Given the description of an element on the screen output the (x, y) to click on. 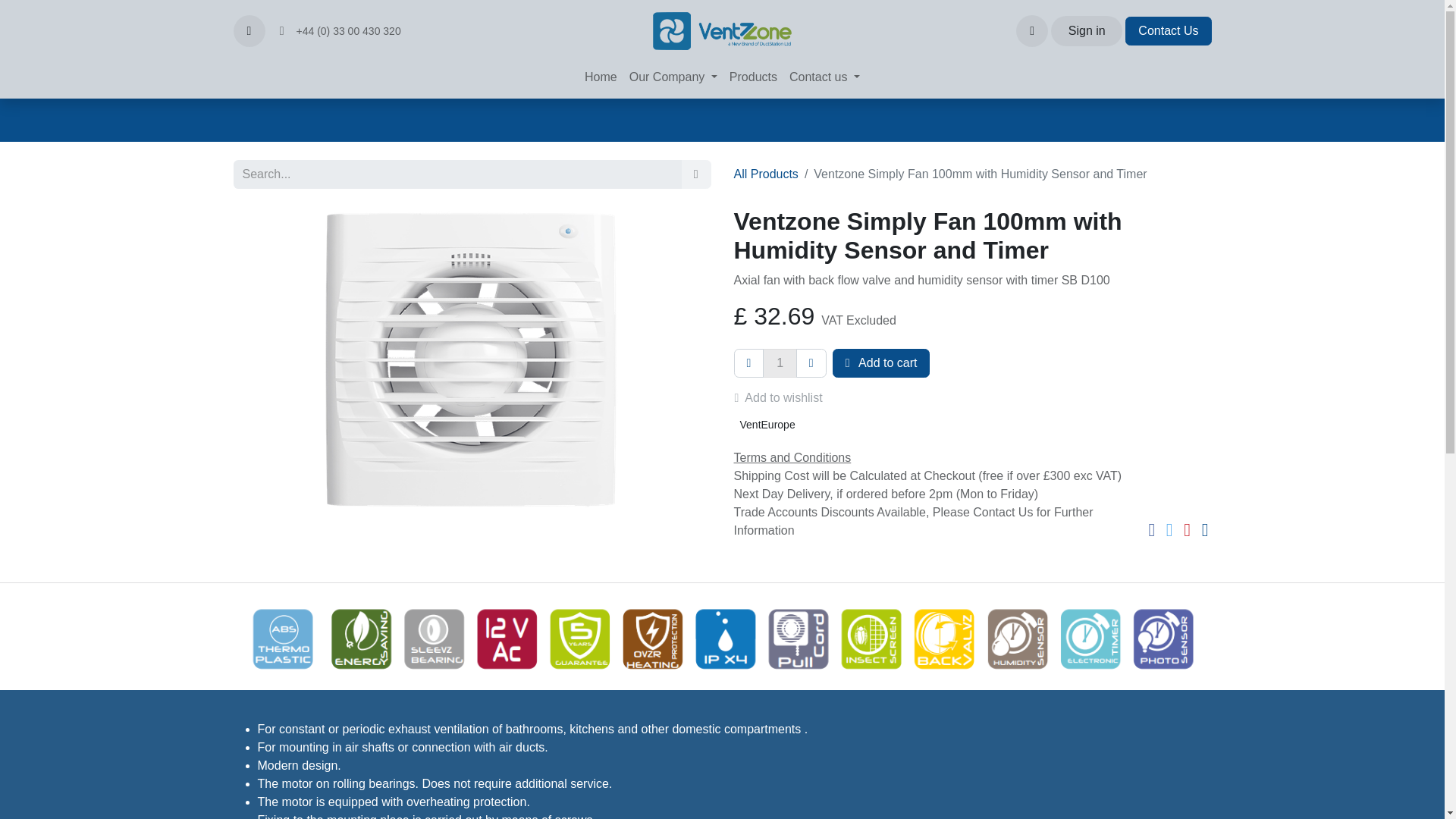
Add one (811, 362)
Contact us (824, 77)
All Products (765, 173)
Home (600, 77)
Contact Us (1168, 30)
Our Company (673, 77)
Add to cart (881, 362)
1 (779, 362)
Search (696, 174)
VentZone (722, 30)
Sign in (1086, 30)
Add to wishlist (784, 398)
Search (248, 30)
Products (753, 77)
Remove one (748, 362)
